Given the description of an element on the screen output the (x, y) to click on. 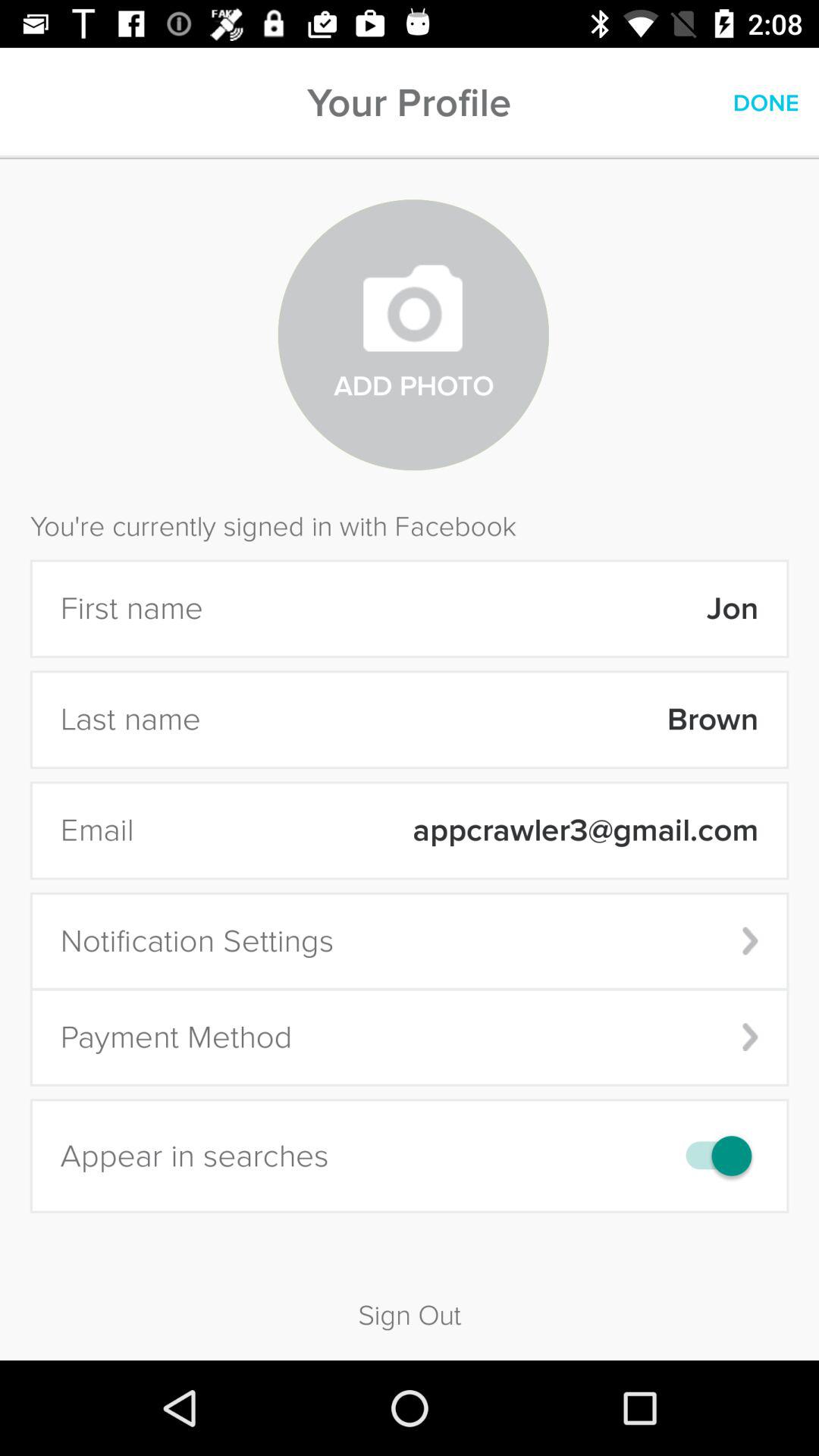
press item to the right of the first name icon (490, 608)
